Given the description of an element on the screen output the (x, y) to click on. 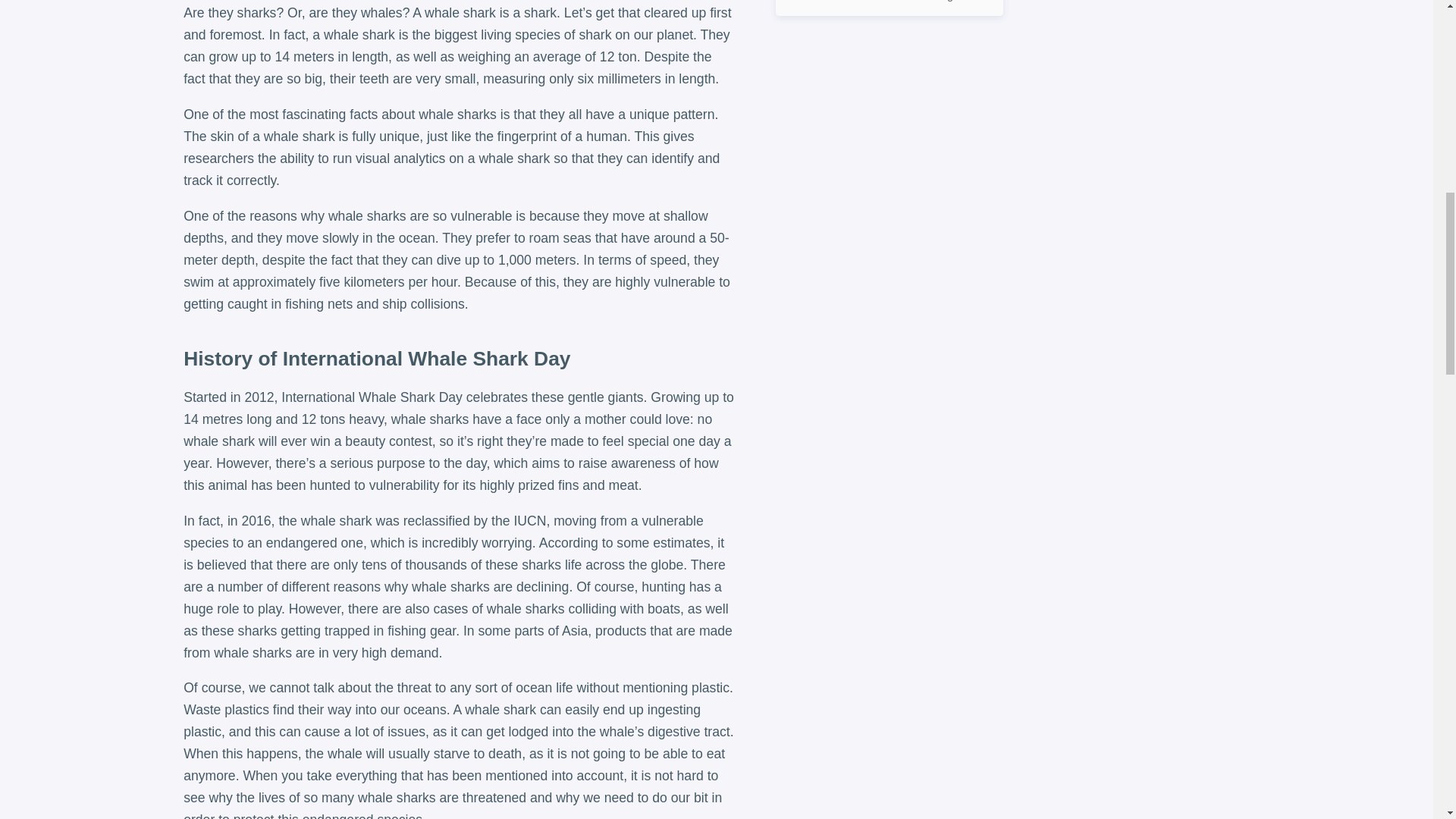
Have we missed something? (890, 8)
